Given the description of an element on the screen output the (x, y) to click on. 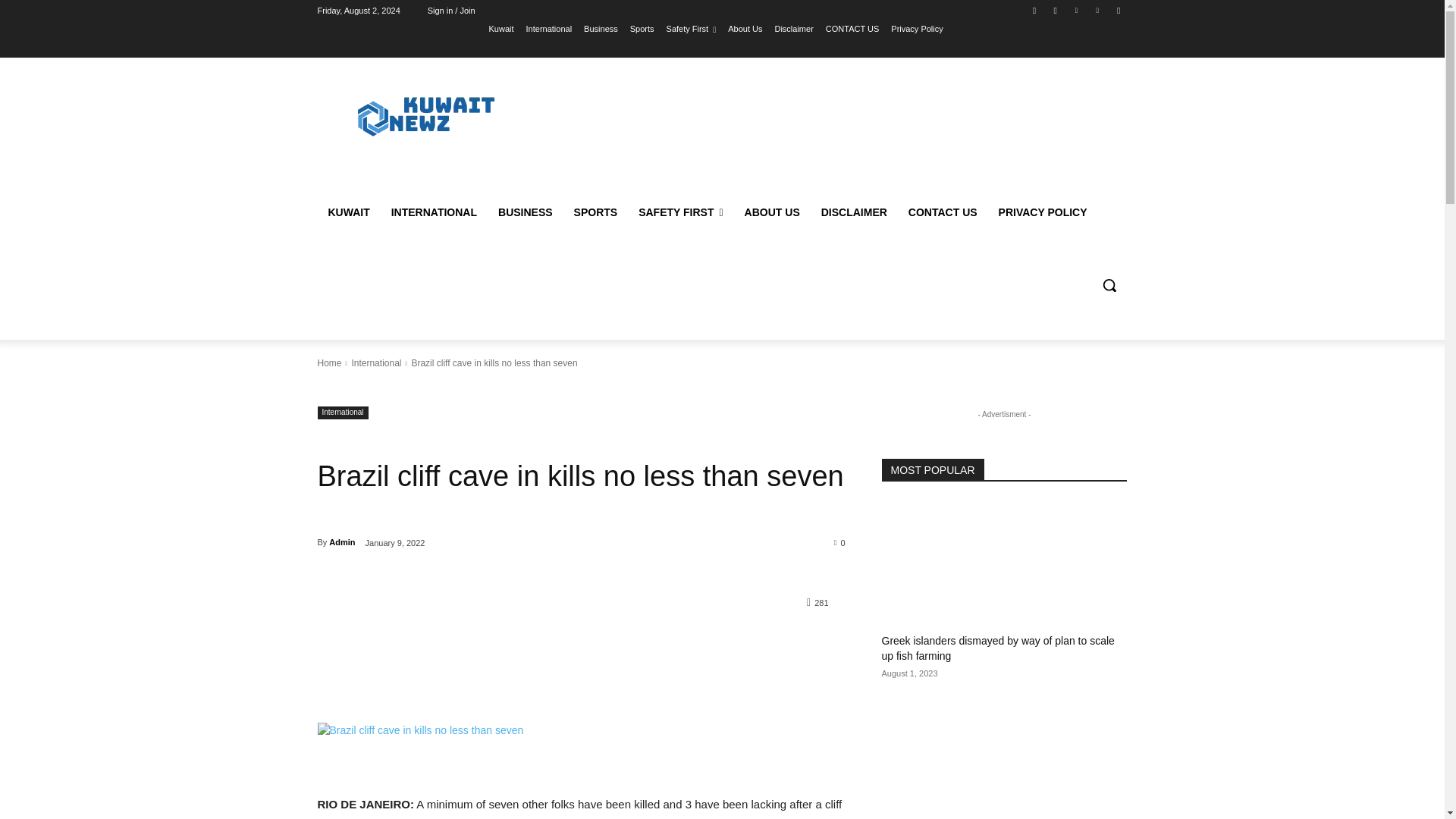
International (548, 28)
Youtube (1117, 9)
CONTACT US (852, 28)
Privacy Policy (916, 28)
Kuwait (501, 28)
Twitter (1075, 9)
Sports (641, 28)
View all posts in International (375, 362)
Business (600, 28)
About Us (744, 28)
